Given the description of an element on the screen output the (x, y) to click on. 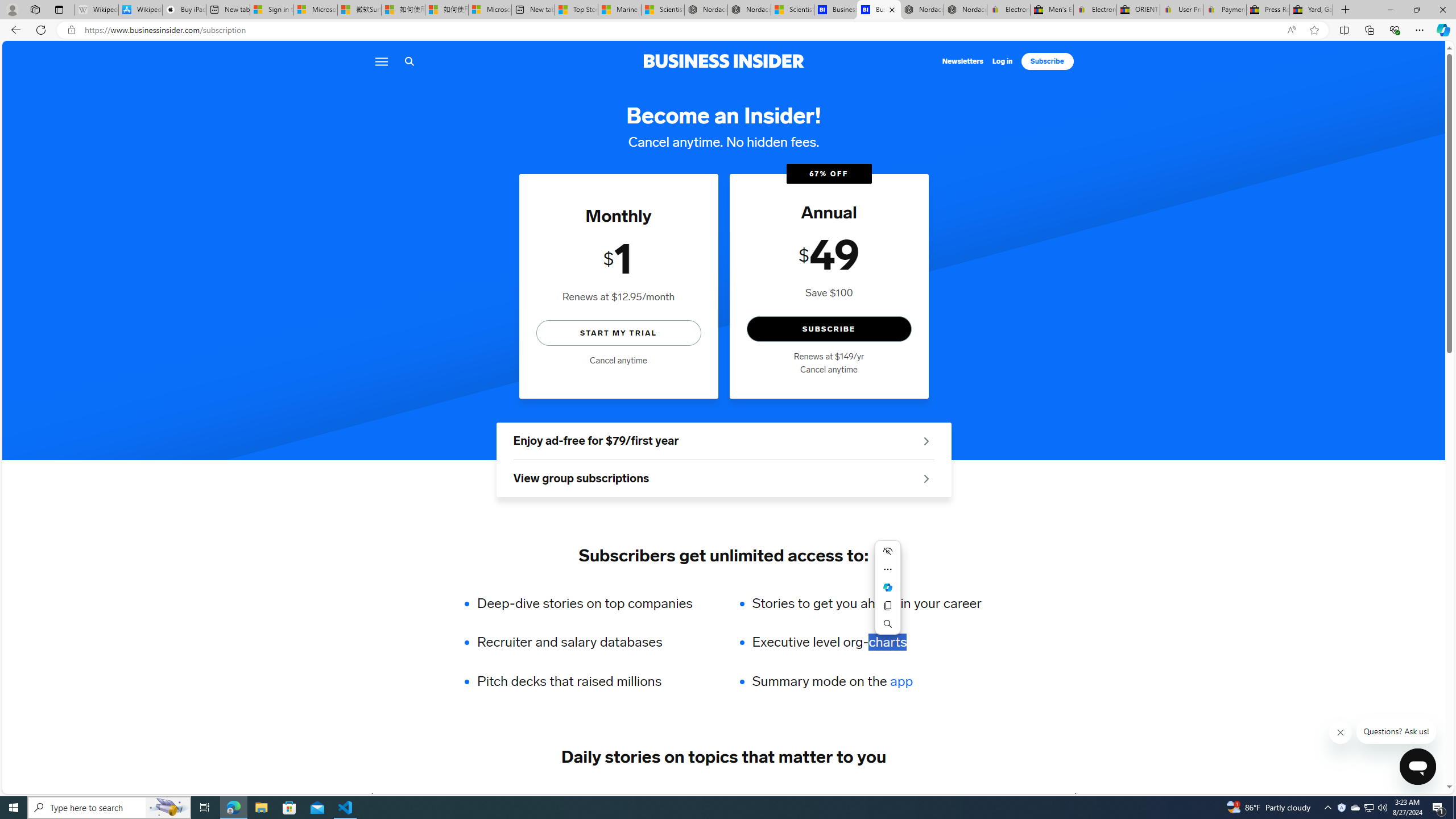
Ask Copilot (887, 587)
